Given the description of an element on the screen output the (x, y) to click on. 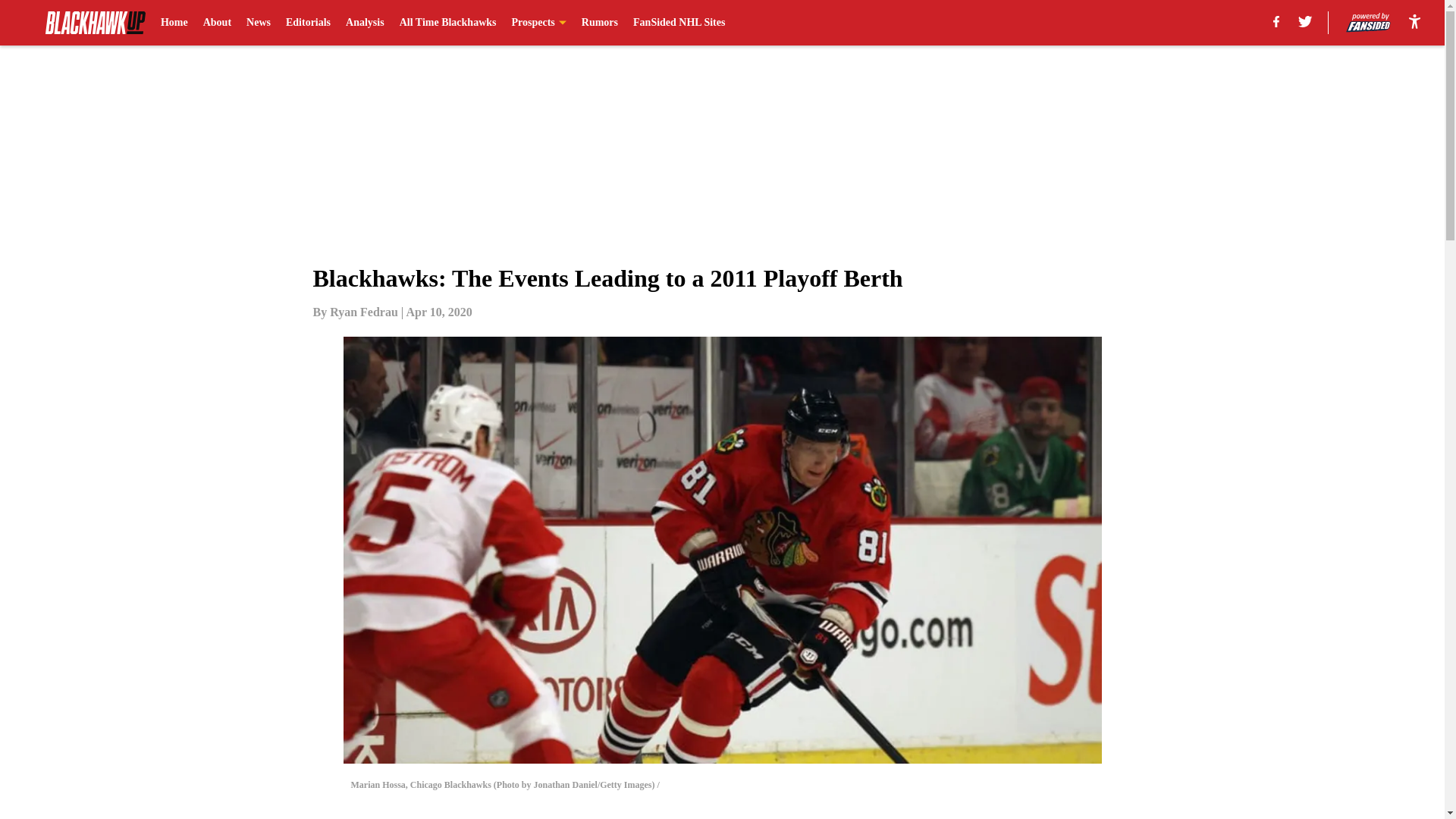
FanSided NHL Sites (679, 22)
Analysis (365, 22)
Rumors (598, 22)
About (217, 22)
Editorials (307, 22)
News (258, 22)
Home (173, 22)
All Time Blackhawks (447, 22)
